Given the description of an element on the screen output the (x, y) to click on. 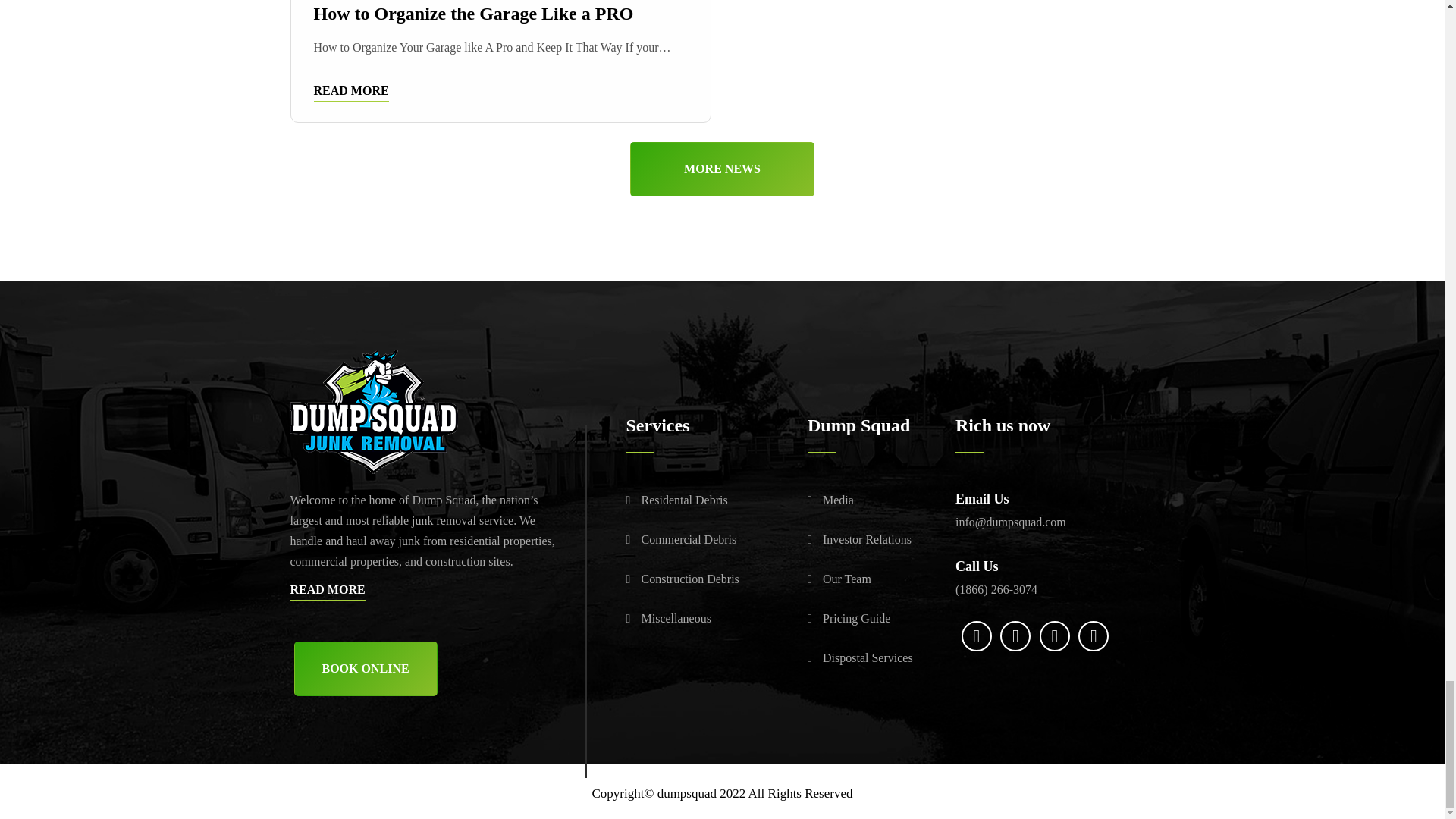
MORE NEWS (721, 168)
READ MORE (351, 93)
